Given the description of an element on the screen output the (x, y) to click on. 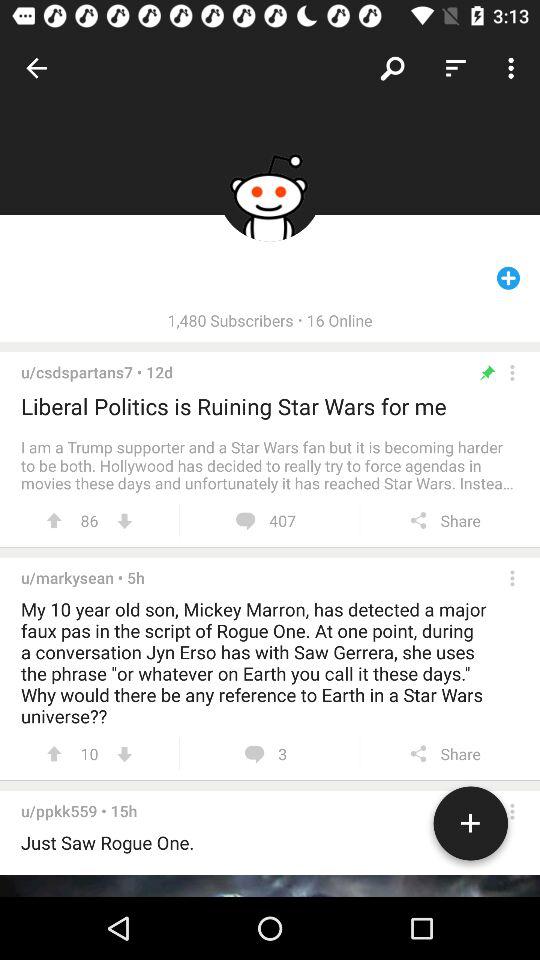
add a comment (470, 827)
